Given the description of an element on the screen output the (x, y) to click on. 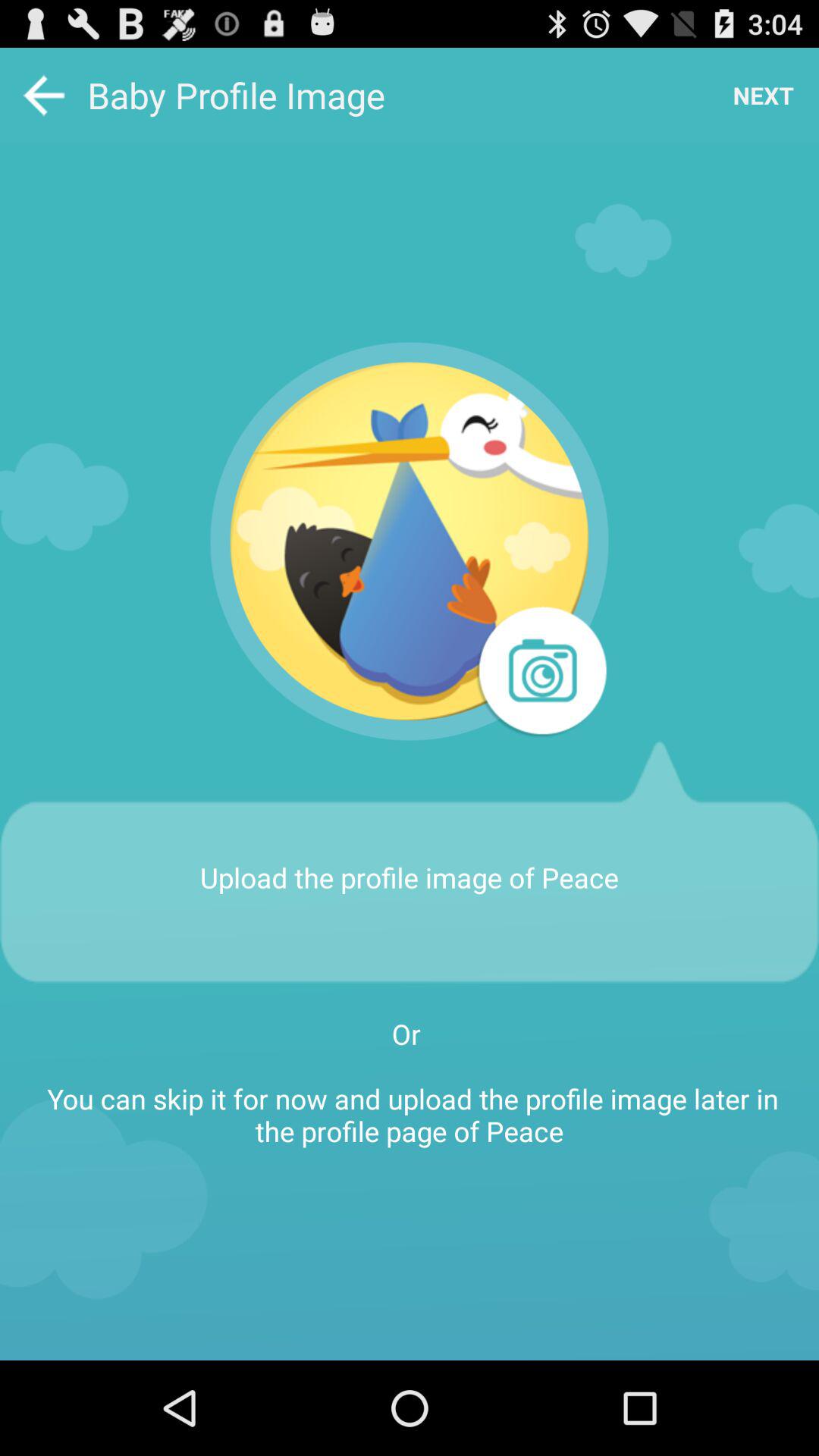
tap the icon at the top right corner (763, 95)
